Given the description of an element on the screen output the (x, y) to click on. 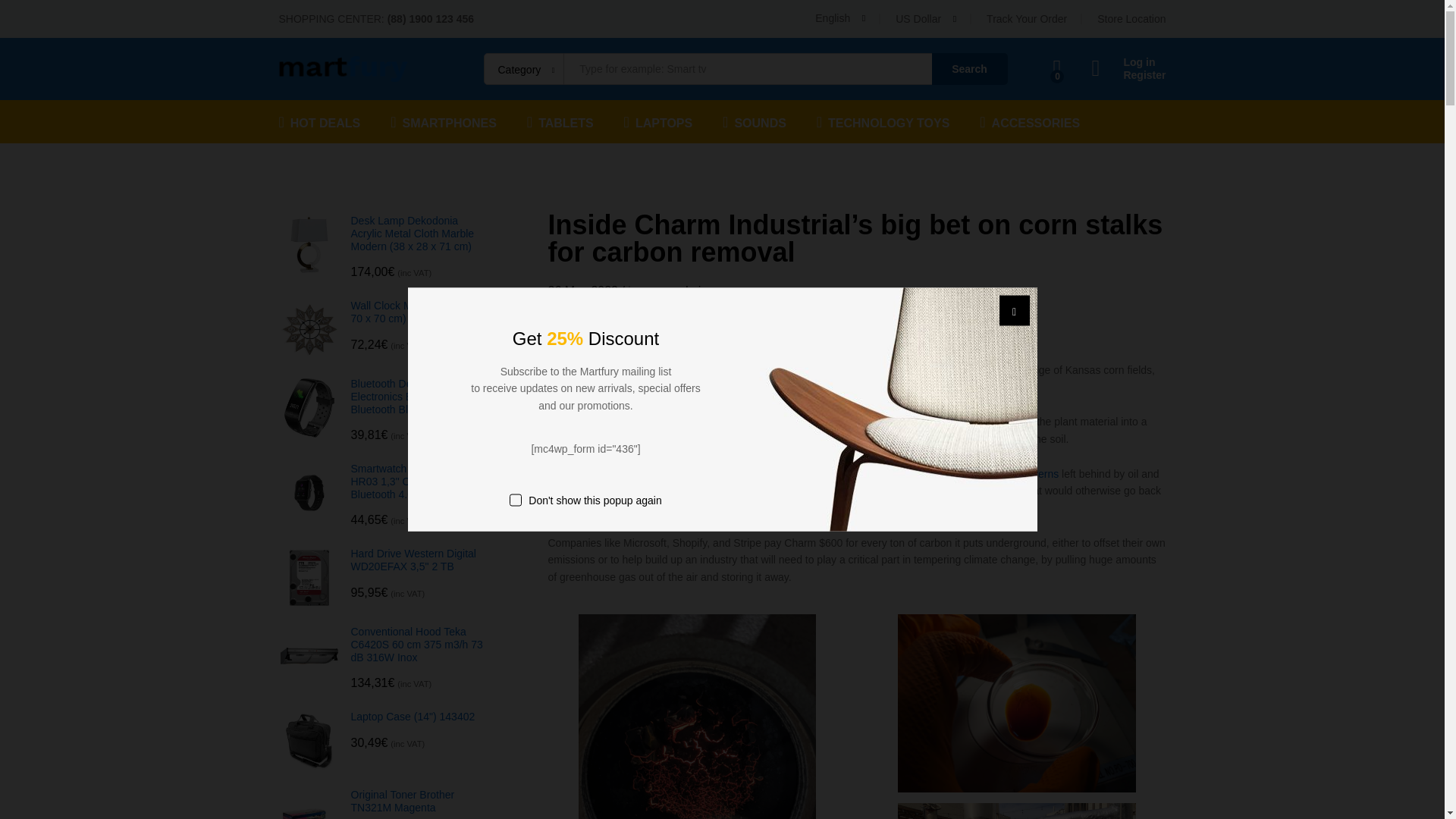
Log in (1128, 62)
0 (1056, 68)
US Dollar (965, 61)
deep wells (820, 473)
German (881, 85)
English (839, 18)
TABLETS (560, 121)
Register (1128, 74)
LAPTOPS (658, 121)
26 May 2022 (582, 290)
Search (969, 69)
SMARTPHONES (443, 121)
HOT DEALS (320, 121)
TECHNOLOGY TOYS (883, 121)
SOUNDS (754, 121)
